Given the description of an element on the screen output the (x, y) to click on. 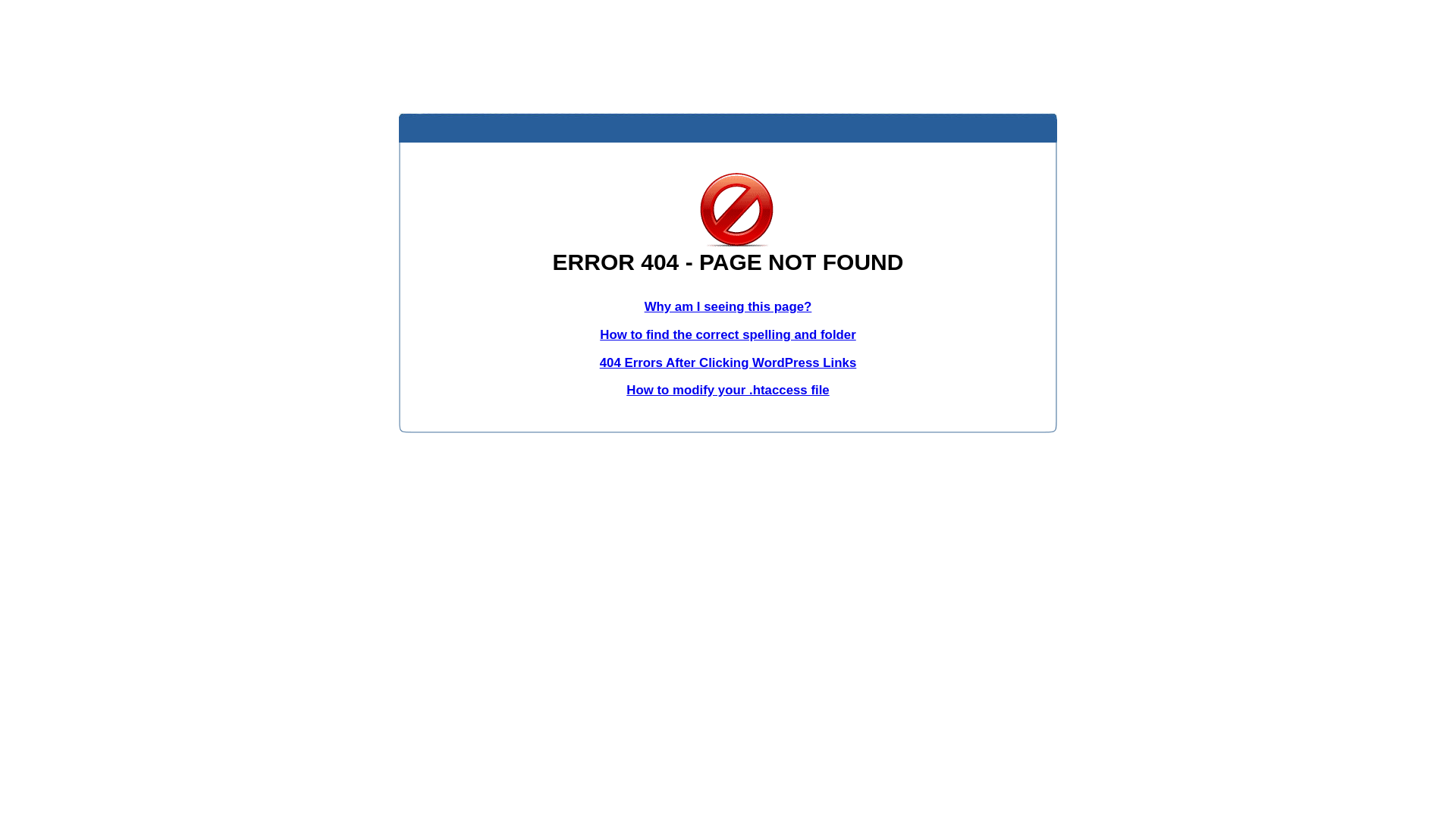
Why am I seeing this page? Element type: text (728, 306)
How to modify your .htaccess file Element type: text (727, 389)
404 Errors After Clicking WordPress Links Element type: text (727, 362)
How to find the correct spelling and folder Element type: text (727, 334)
